Given the description of an element on the screen output the (x, y) to click on. 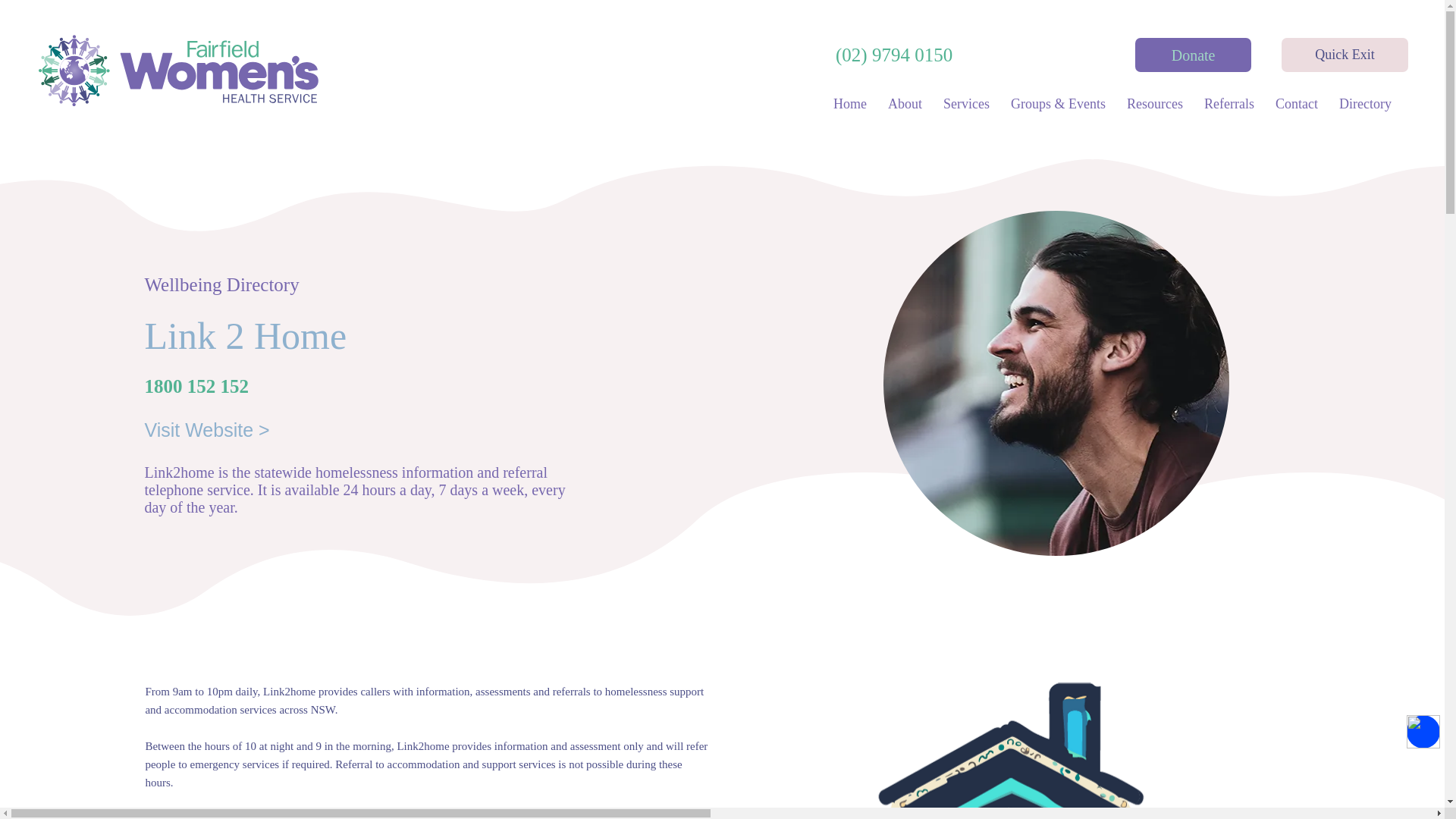
Donate (1192, 54)
Referrals (1229, 104)
Wellbeing Directory (221, 284)
Resources (1155, 104)
Accessibility Menu (1422, 731)
Contact (1296, 104)
Services (966, 104)
Directory (1365, 104)
Home (850, 104)
About (905, 104)
